Given the description of an element on the screen output the (x, y) to click on. 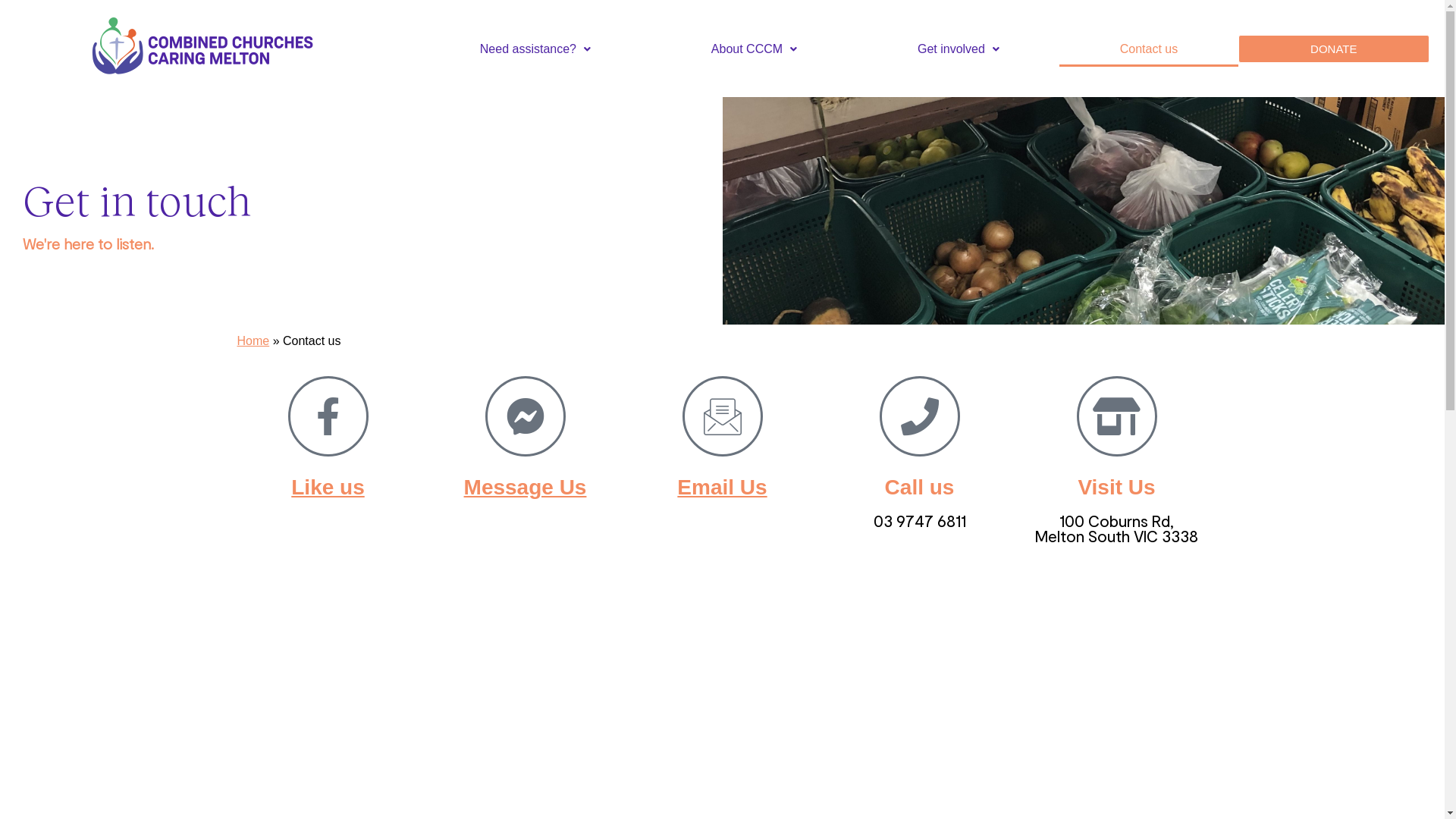
Email Us Element type: text (721, 486)
Contact us Element type: text (1148, 48)
Message Us Element type: text (525, 486)
Home Element type: text (252, 340)
About CCCM Element type: text (753, 48)
DONATE Element type: text (1333, 48)
Need assistance? Element type: text (534, 48)
Get involved Element type: text (958, 48)
Like us Element type: text (327, 486)
